Given the description of an element on the screen output the (x, y) to click on. 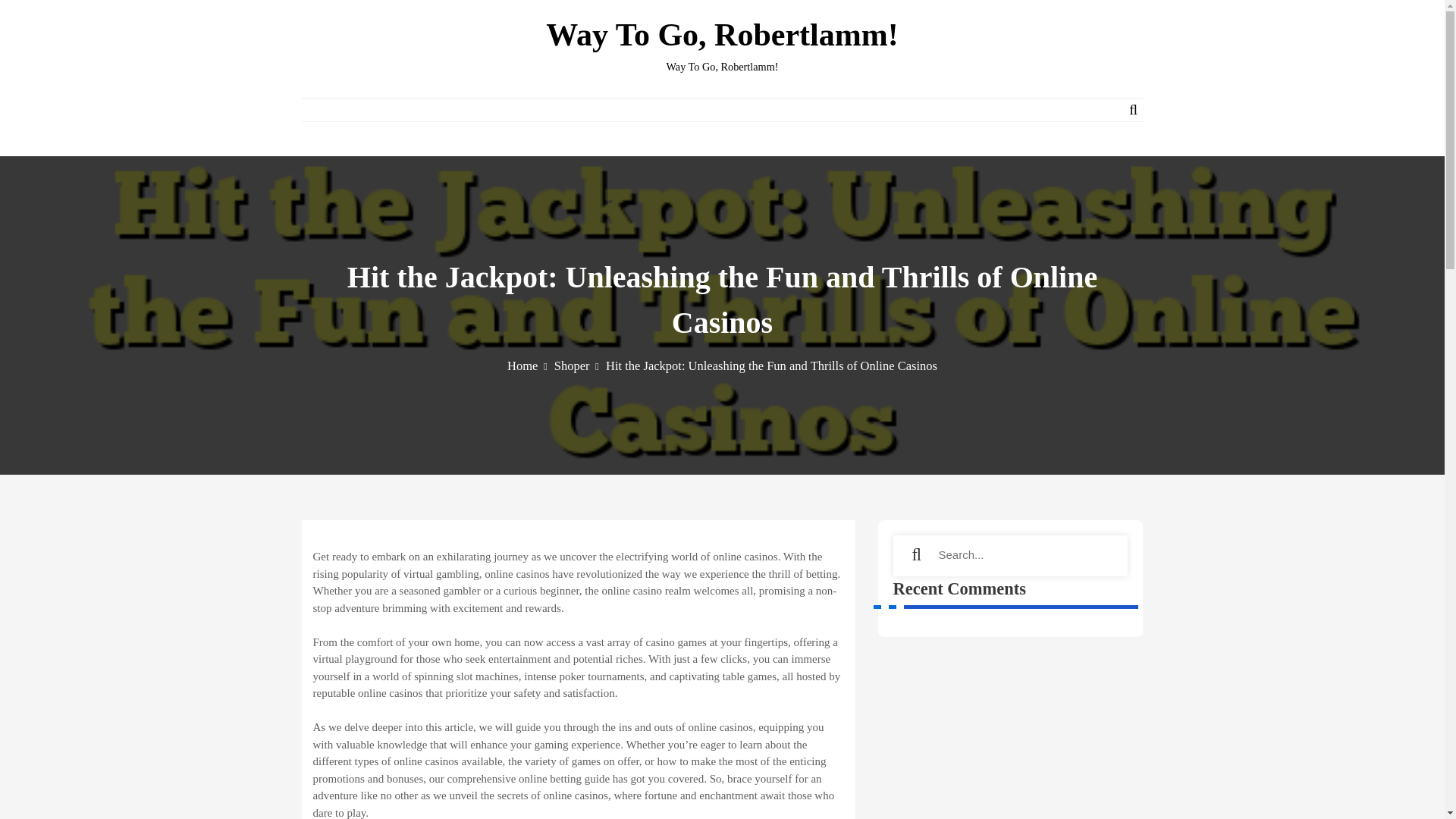
Way To Go, Robertlamm! (722, 34)
Shoper (576, 365)
Home (526, 365)
